Given the description of an element on the screen output the (x, y) to click on. 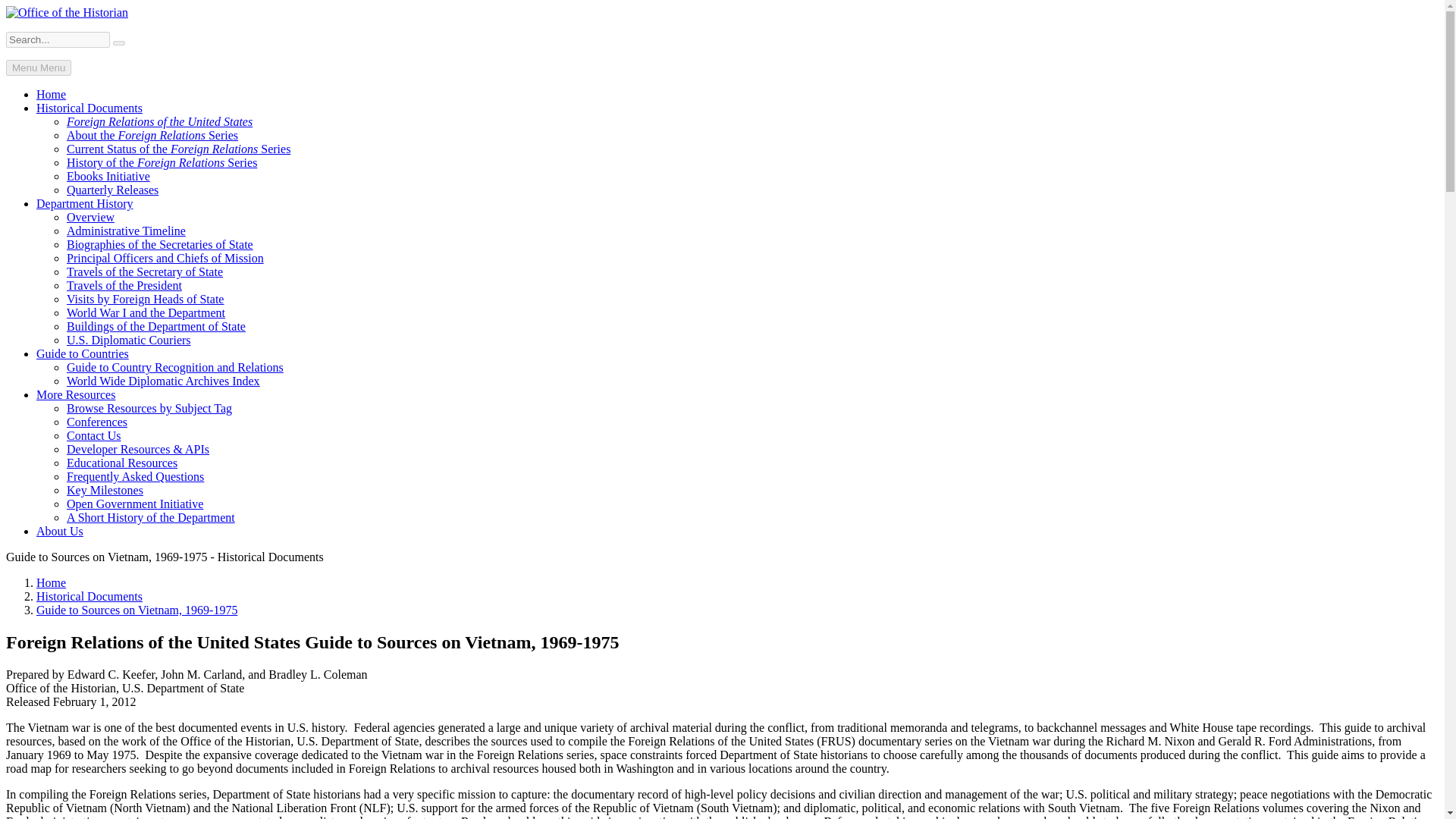
About the Foreign Relations Series (152, 134)
Key Milestones (104, 490)
Travels of the Secretary of State (144, 271)
Conferences (97, 421)
Principal Officers and Chiefs of Mission (164, 257)
Visits by Foreign Heads of State (145, 298)
Travels of the President (124, 285)
Ebooks Initiative (107, 175)
Overview (90, 216)
Guide to Sources on Vietnam, 1969-1975 (136, 609)
